Given the description of an element on the screen output the (x, y) to click on. 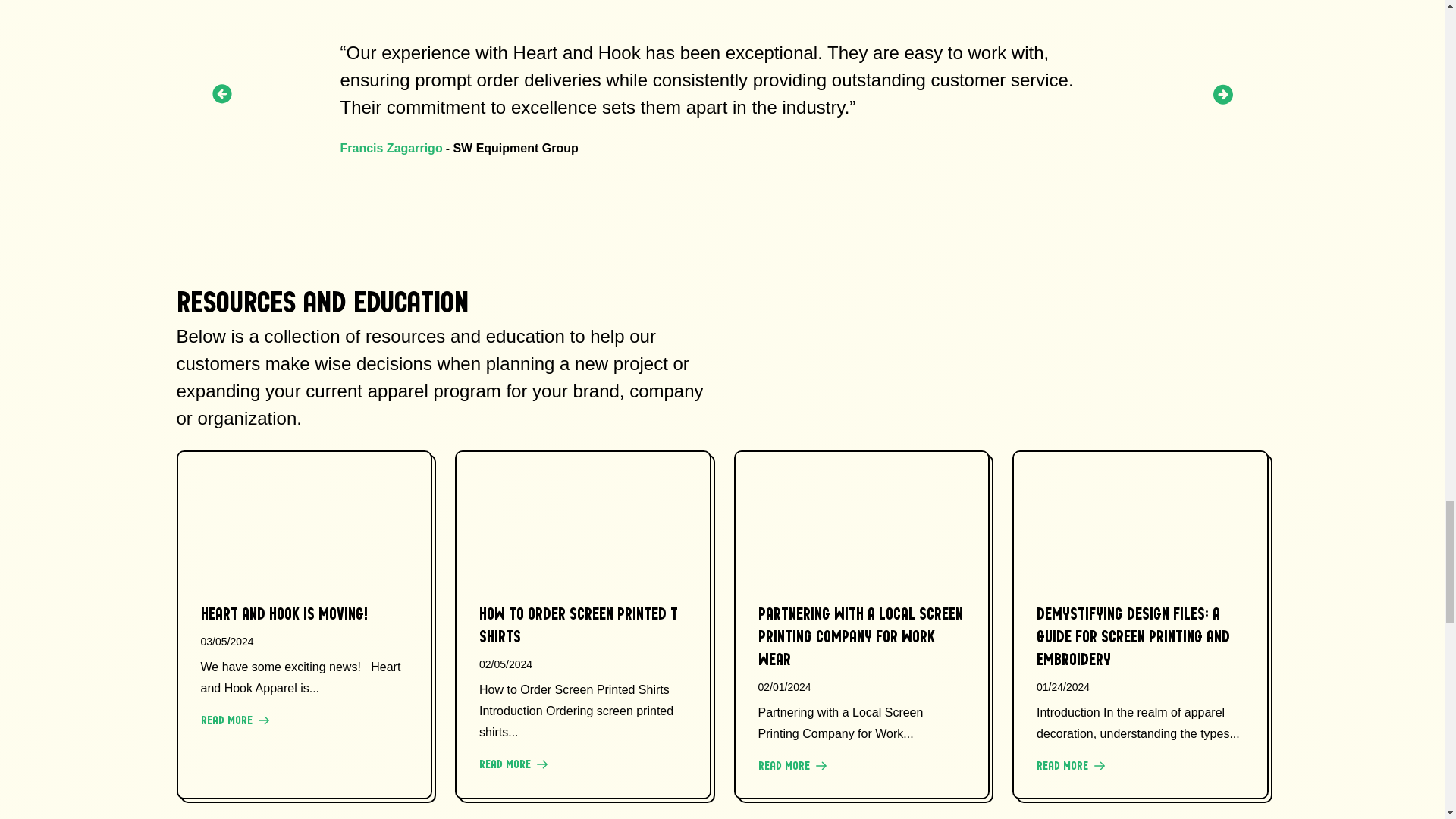
Read More (791, 766)
Read More (512, 764)
Read More (233, 720)
Read More (1069, 766)
